Given the description of an element on the screen output the (x, y) to click on. 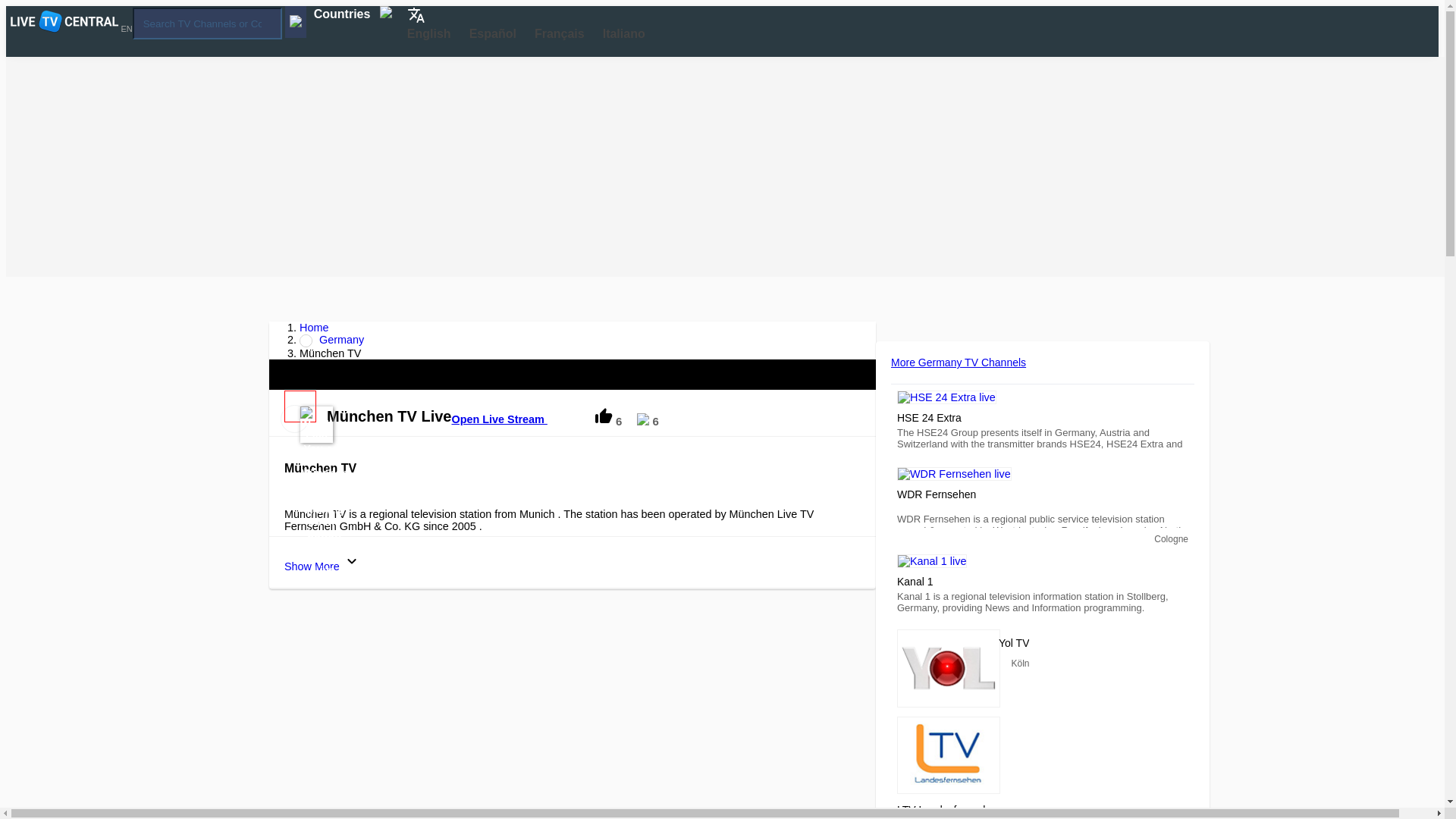
Open Live Stream (507, 414)
Show More (322, 562)
HSE 24 Extra (945, 397)
More Germany TV Channels (958, 362)
Kanal 1 (931, 561)
Yol TV (948, 668)
6 (608, 416)
Countries (351, 13)
Germany (331, 339)
